Given the description of an element on the screen output the (x, y) to click on. 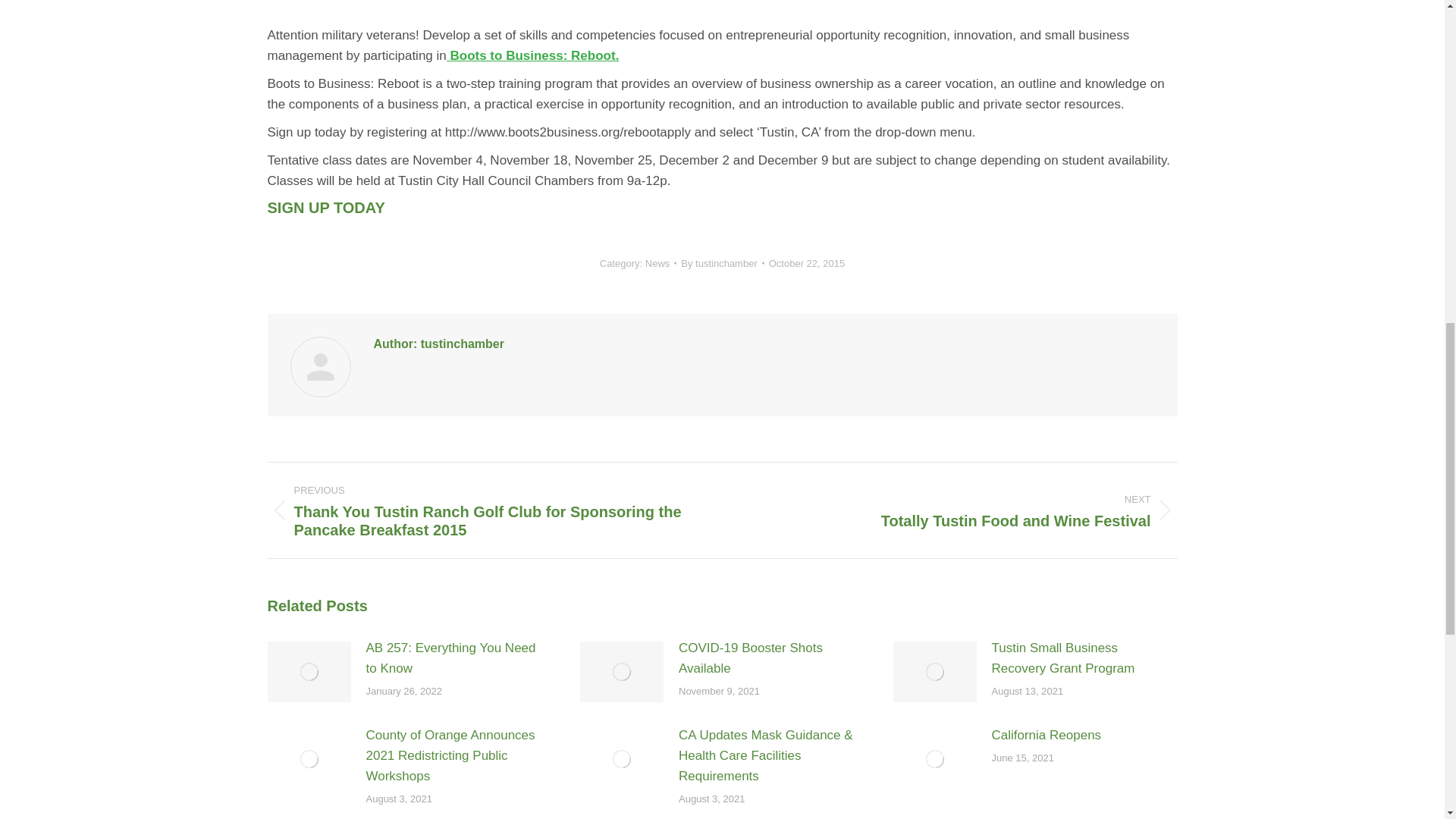
4:06 pm (806, 262)
View all posts by tustinchamber (721, 262)
